Given the description of an element on the screen output the (x, y) to click on. 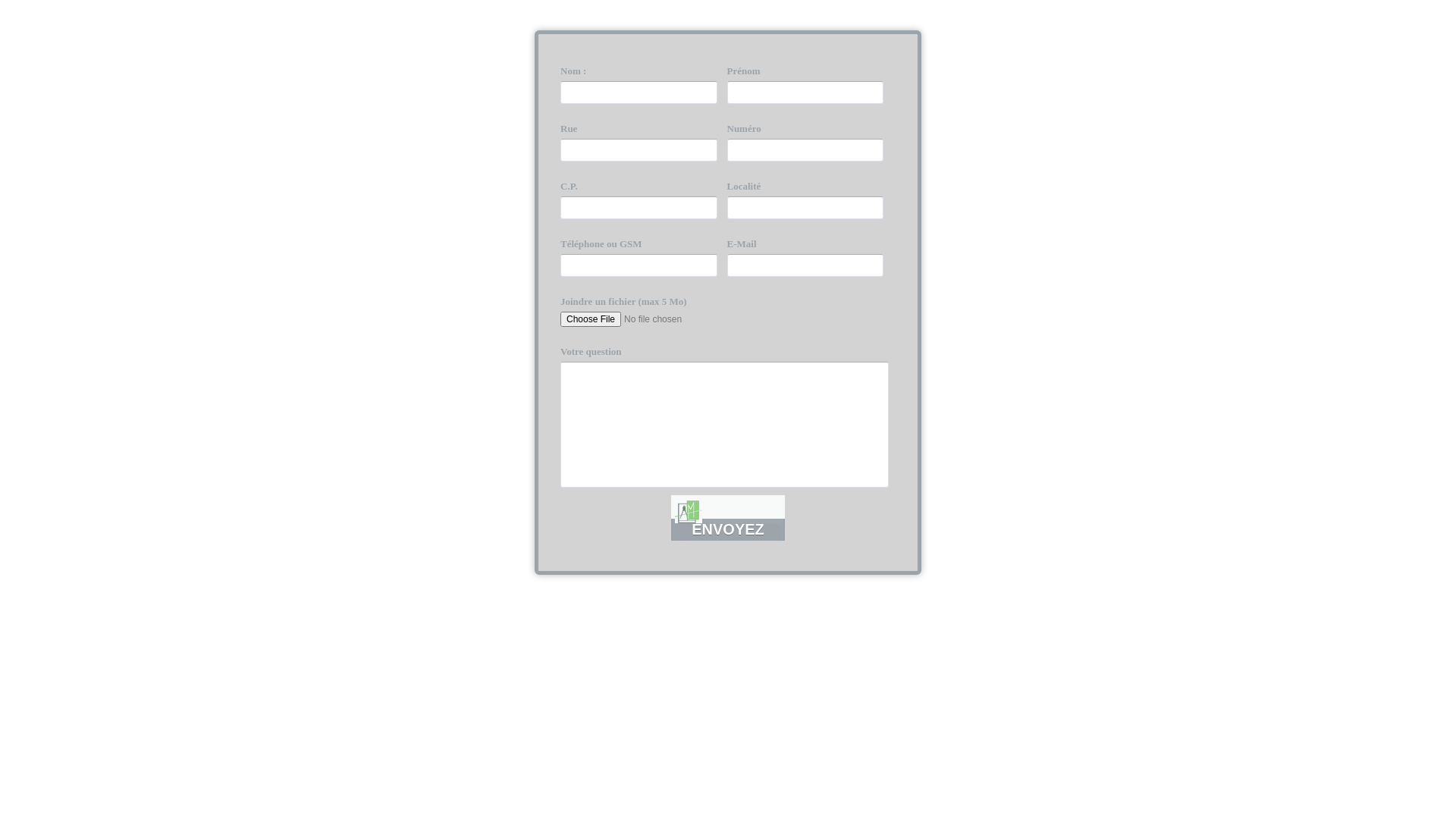
ENVOYEZ Element type: text (727, 517)
